Given the description of an element on the screen output the (x, y) to click on. 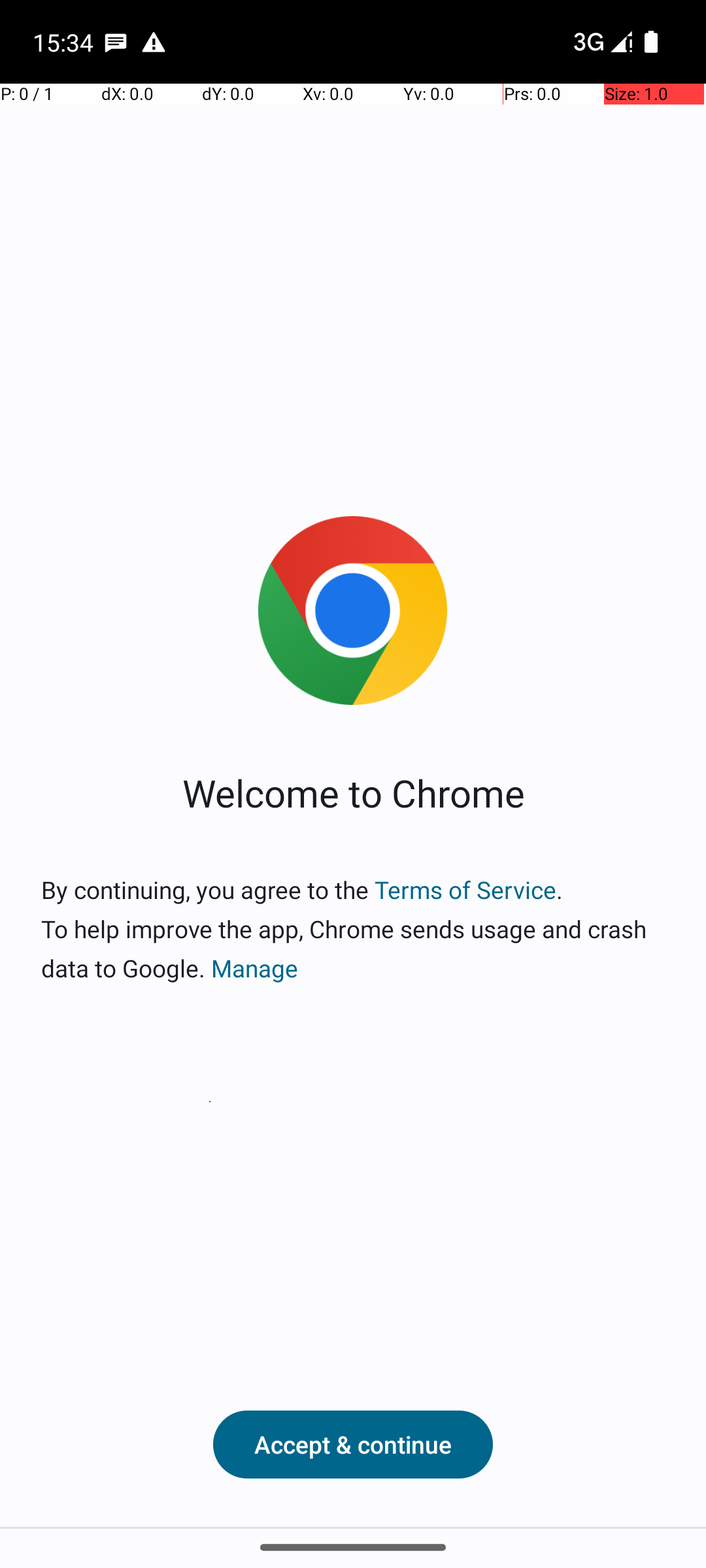
By continuing, you agree to the Terms of Service.
To help improve the app, Chrome sends usage and crash data to Google. Manage Element type: android.widget.TextView (352, 928)
